Given the description of an element on the screen output the (x, y) to click on. 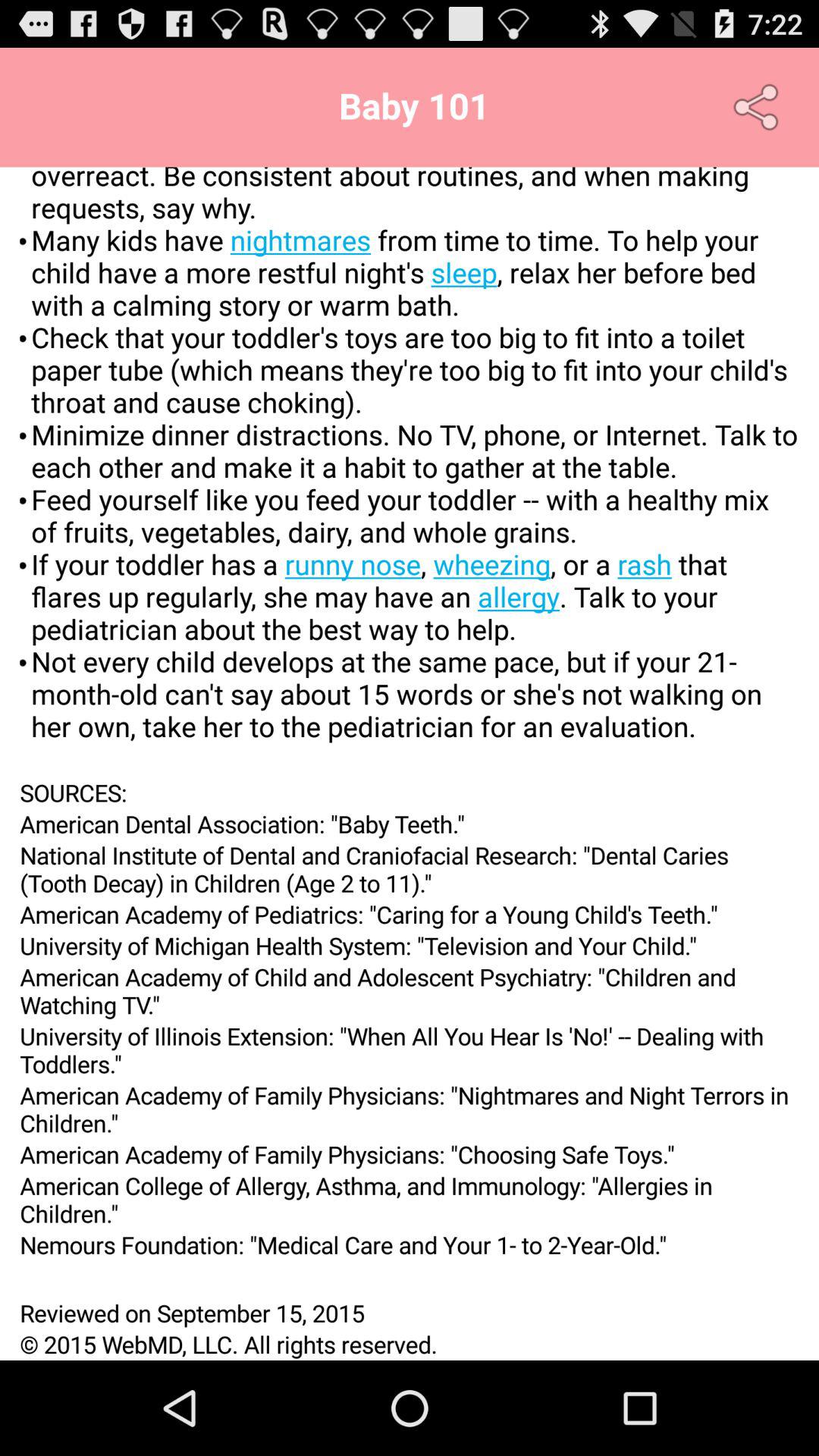
tap nemours foundation medical (409, 1244)
